Given the description of an element on the screen output the (x, y) to click on. 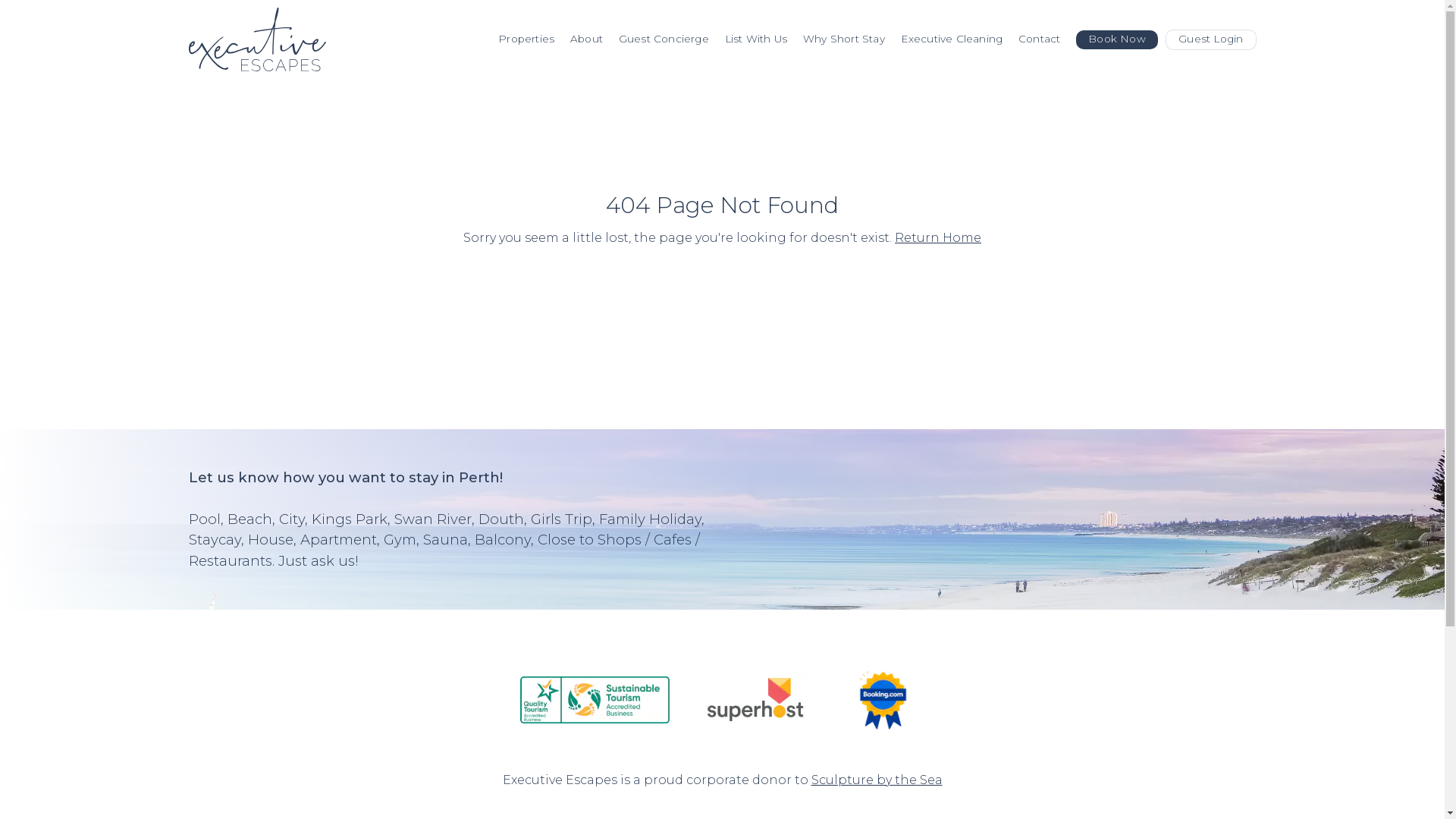
Why Short Stay Element type: text (843, 39)
Properties Element type: text (526, 39)
List With Us Element type: text (755, 39)
Contact Element type: text (1039, 39)
Guest Concierge Element type: text (663, 39)
Book Now Element type: text (1116, 39)
Guest Login Element type: text (1210, 39)
Return Home Element type: text (937, 237)
About Element type: text (586, 39)
Executive Cleaning Element type: text (951, 39)
Sculpture by the Sea Element type: text (876, 779)
